Given the description of an element on the screen output the (x, y) to click on. 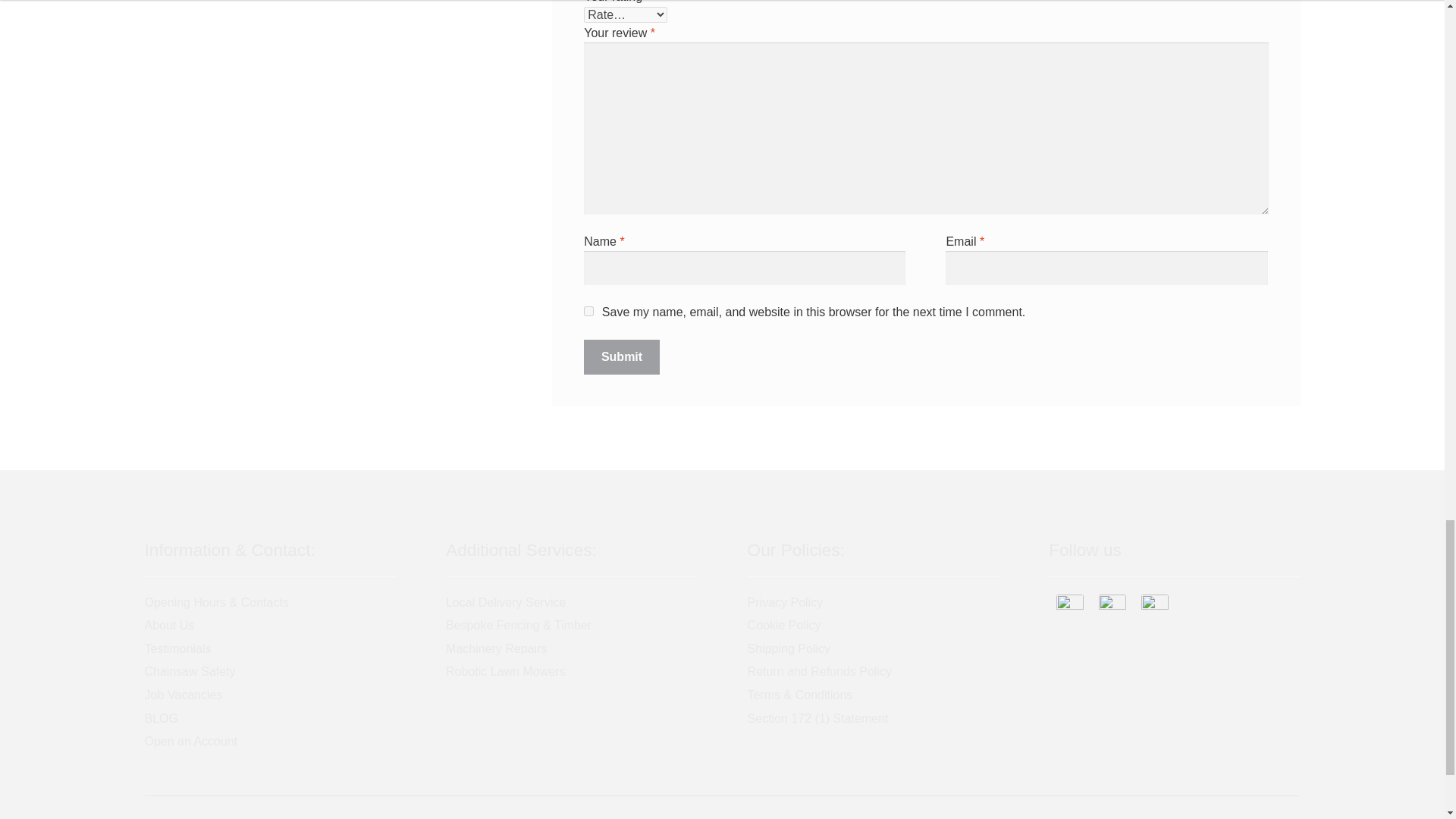
Testimonials (177, 648)
Facebook (1070, 608)
Chainsaw Safety (189, 671)
About Us (168, 625)
Job Vacancies (183, 694)
Submit (621, 356)
YouTube (1155, 608)
yes (588, 311)
Submit (621, 356)
Instagram (1112, 608)
